Given the description of an element on the screen output the (x, y) to click on. 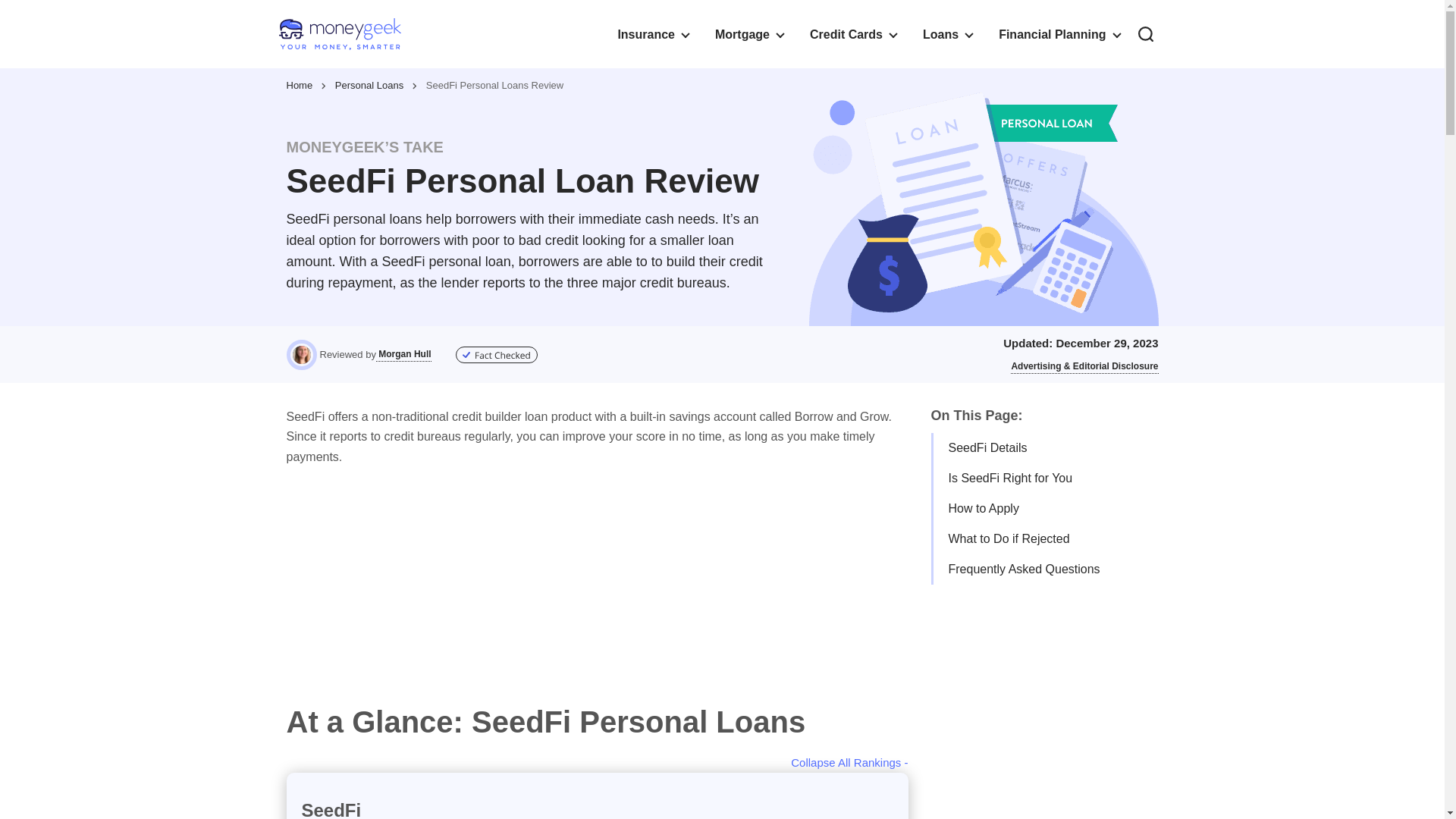
Mortgage (748, 33)
Credit Cards (852, 33)
Financial Planning (1058, 33)
Loans (946, 33)
Insurance (652, 33)
